Given the description of an element on the screen output the (x, y) to click on. 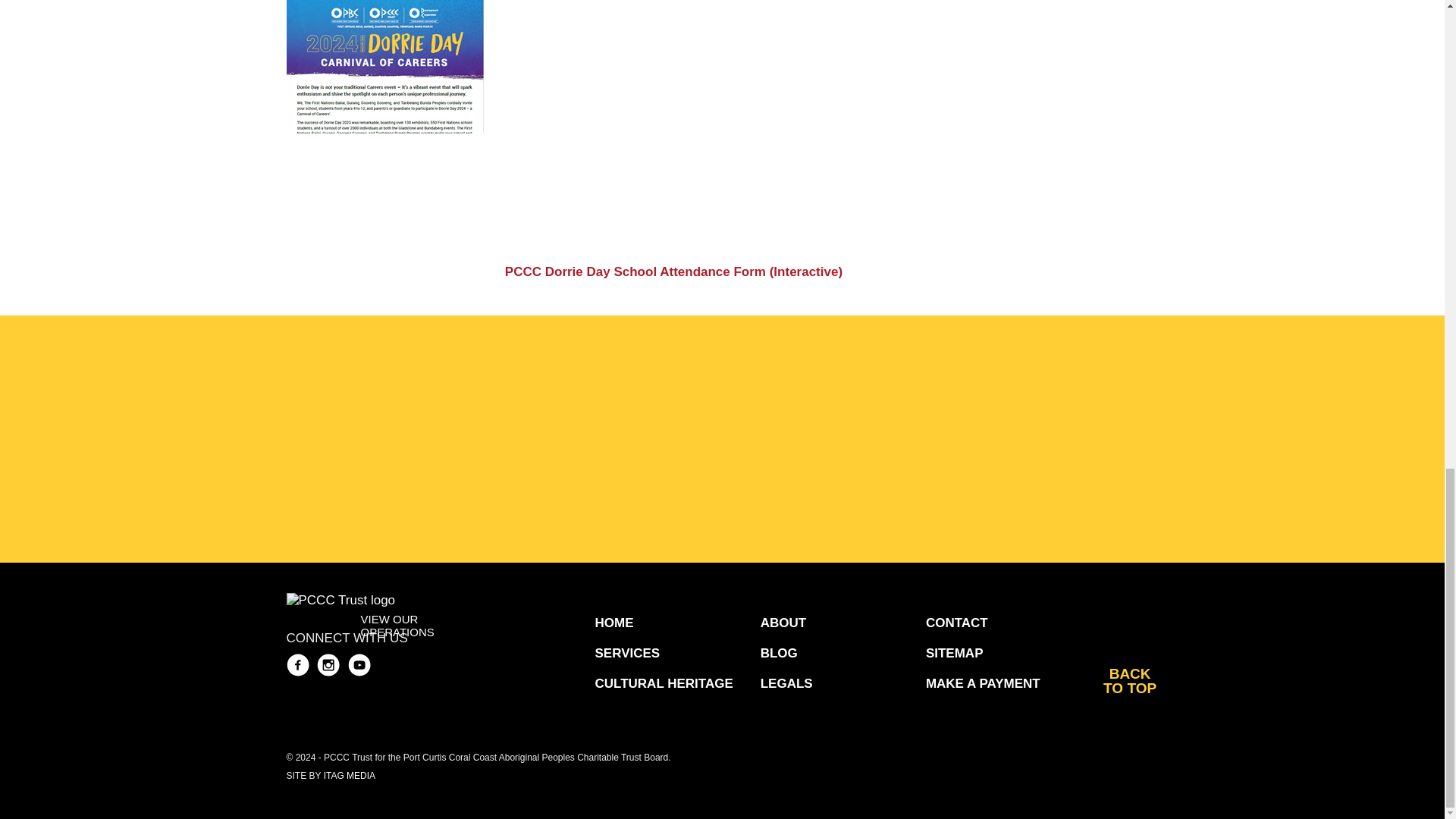
Itag Media (349, 775)
